Given the description of an element on the screen output the (x, y) to click on. 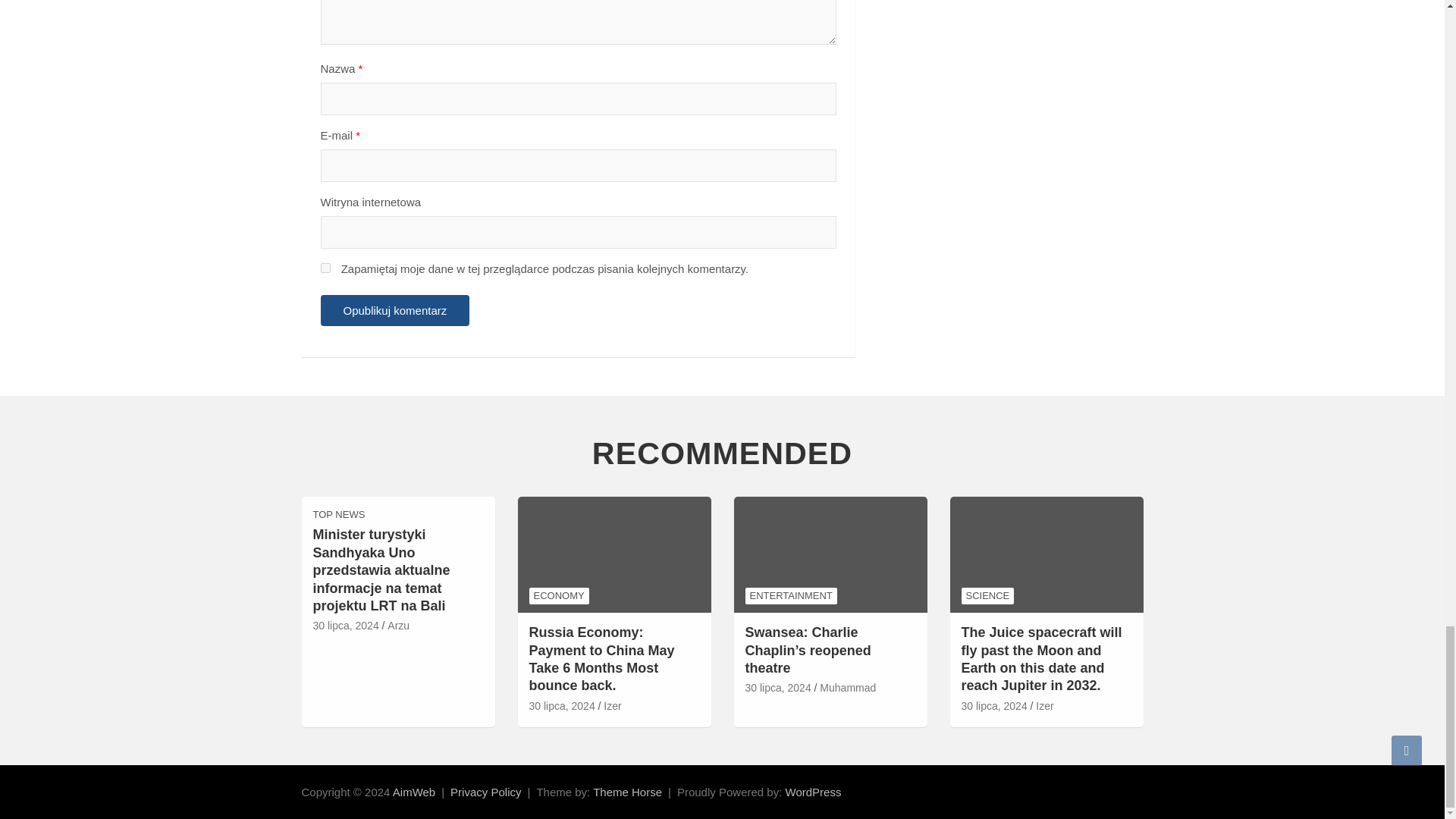
AimWeb (414, 791)
Opublikuj komentarz (394, 309)
WordPress (813, 791)
yes (325, 267)
Opublikuj komentarz (394, 309)
Theme Horse (627, 791)
